Given the description of an element on the screen output the (x, y) to click on. 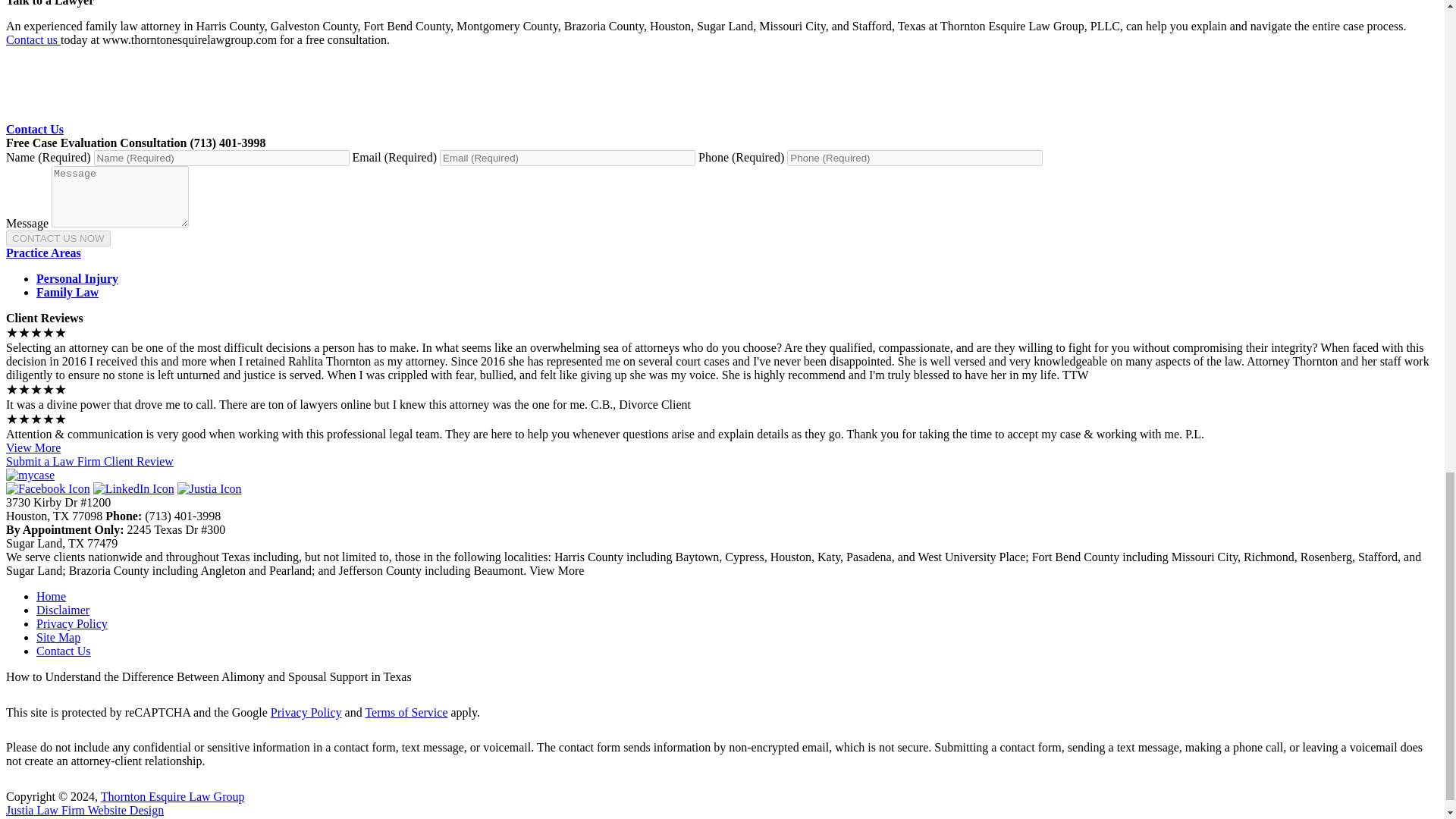
Family Law (67, 291)
Home (50, 595)
Contact us (33, 39)
Justia Law Firm Website Design (84, 809)
Site Map (58, 636)
CONTACT US NOW (57, 238)
Privacy Policy (306, 712)
Justia (209, 488)
Contact Us (34, 128)
Facebook (47, 488)
